Given the description of an element on the screen output the (x, y) to click on. 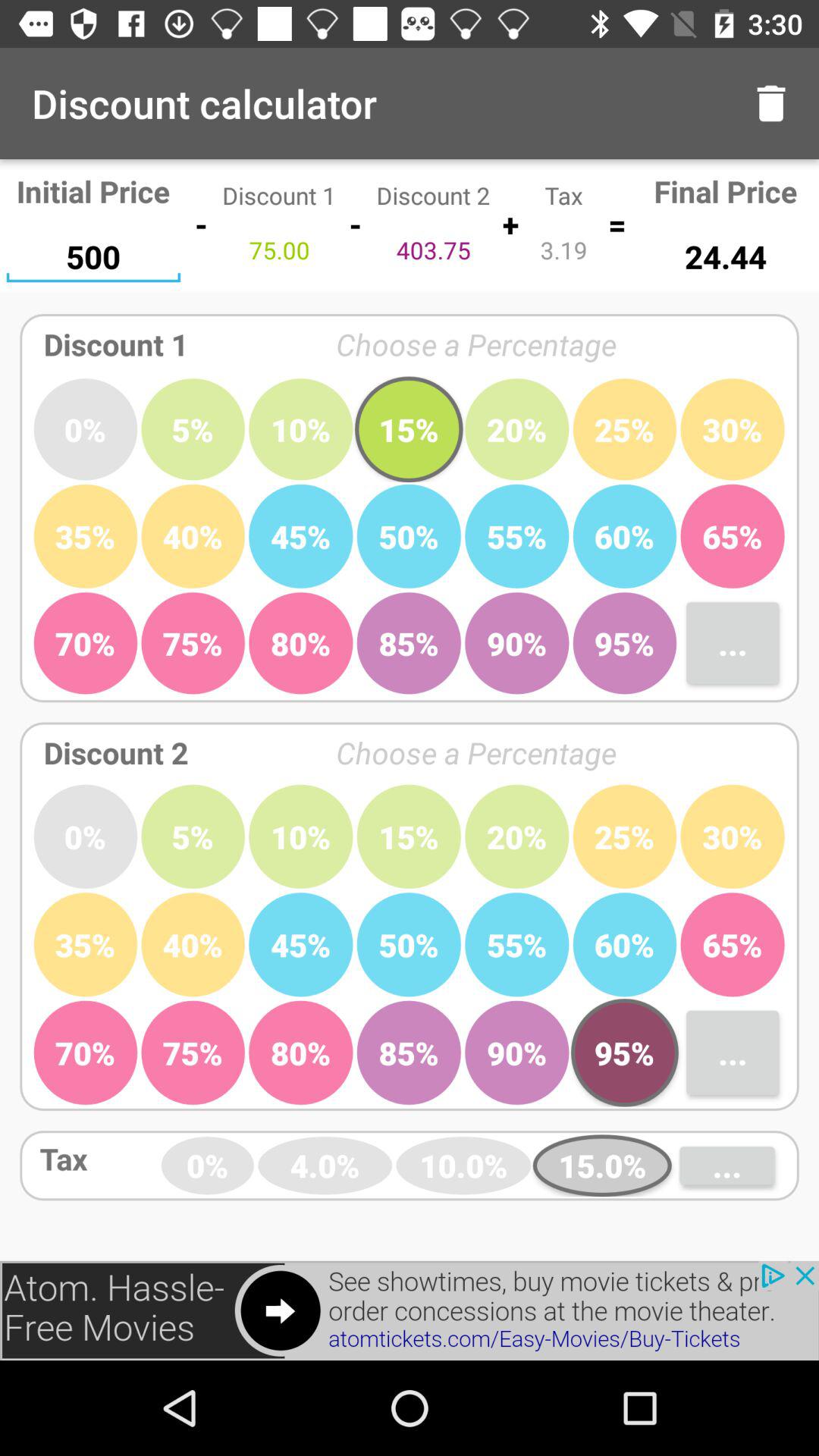
open advertisement (409, 1310)
